Given the description of an element on the screen output the (x, y) to click on. 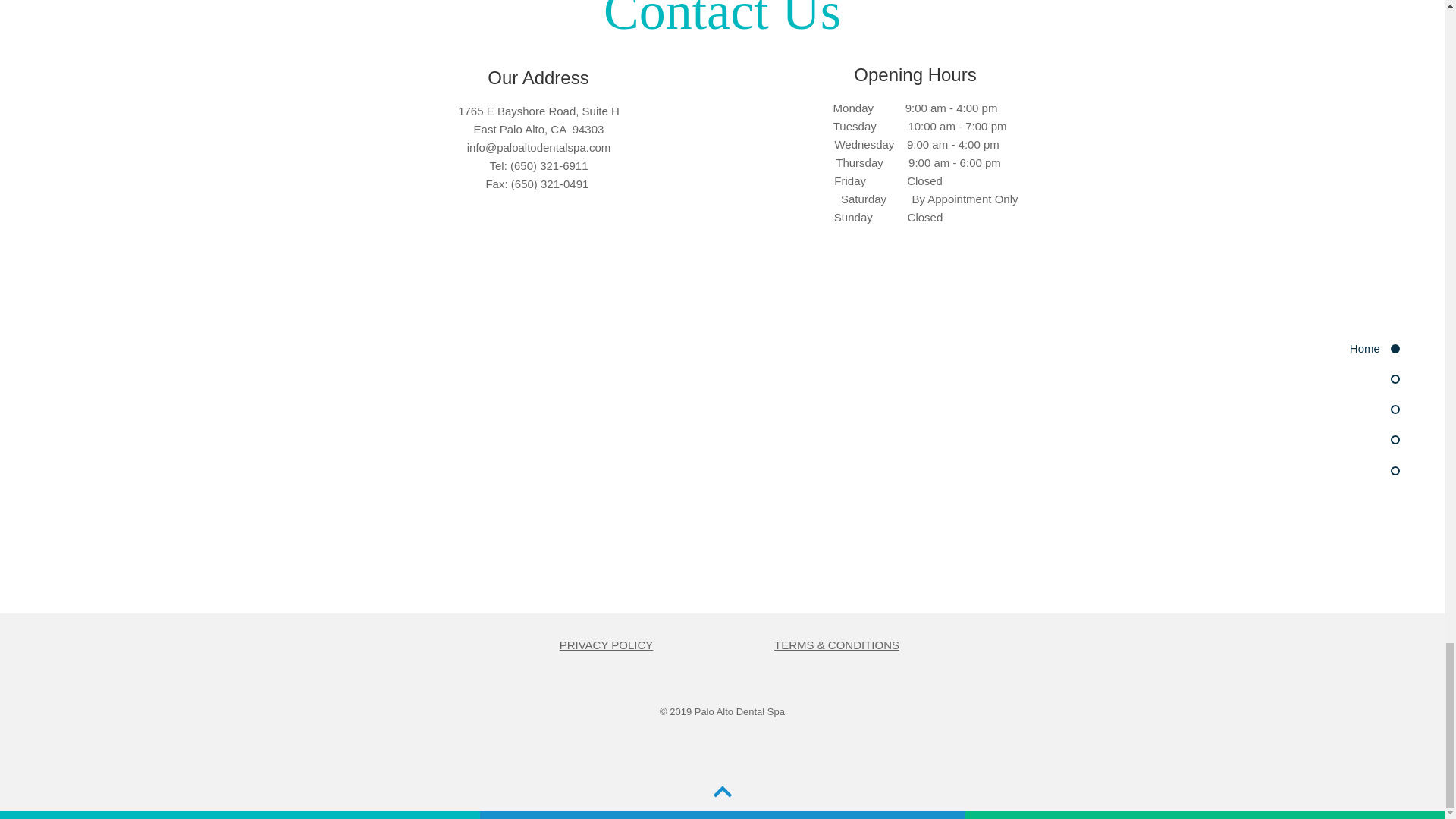
PRIVACY POLICY (606, 644)
